Given the description of an element on the screen output the (x, y) to click on. 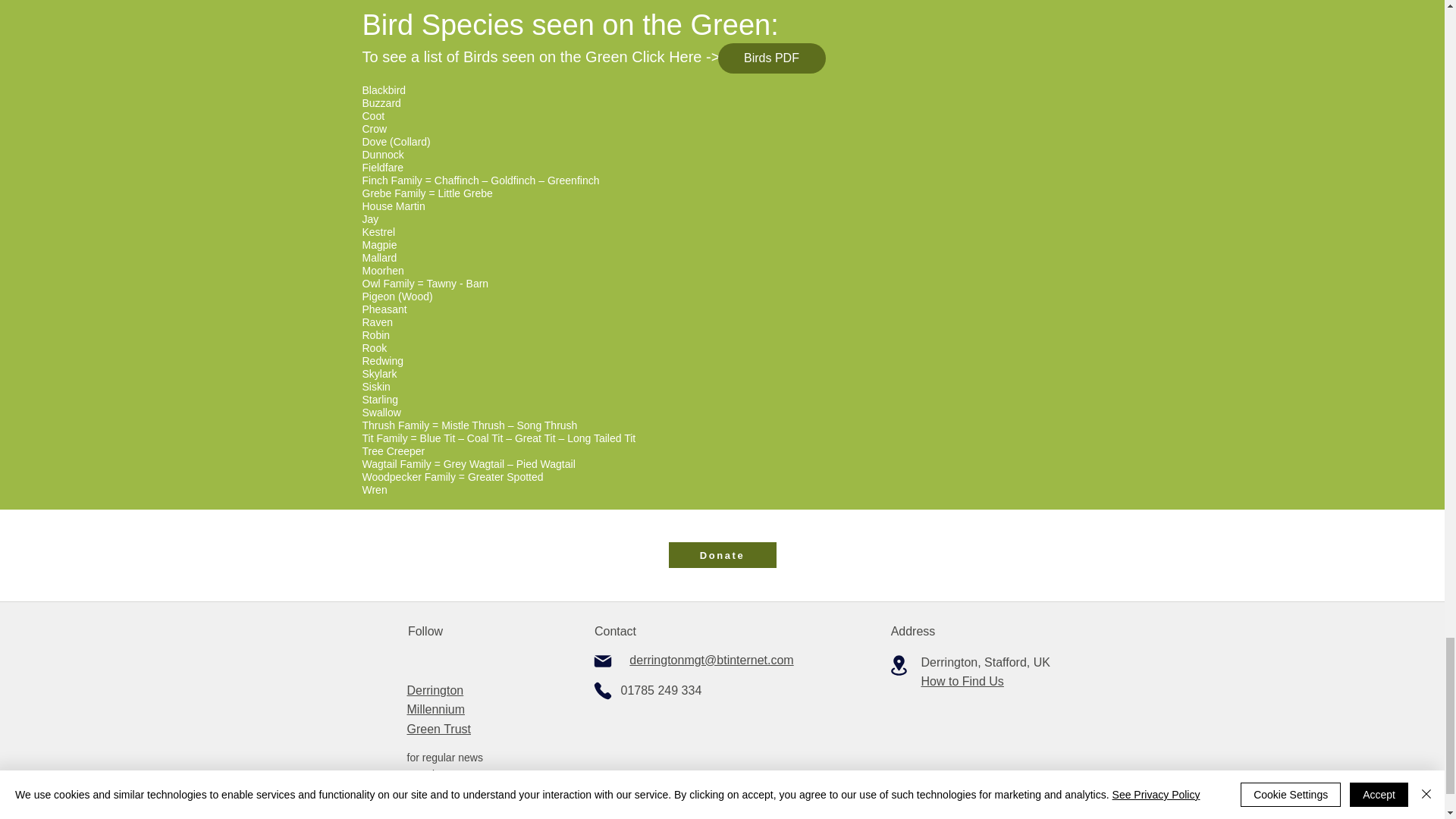
Birds PDF (771, 58)
Derrington Millennium Green Trust (438, 709)
Donate (722, 555)
